Given the description of an element on the screen output the (x, y) to click on. 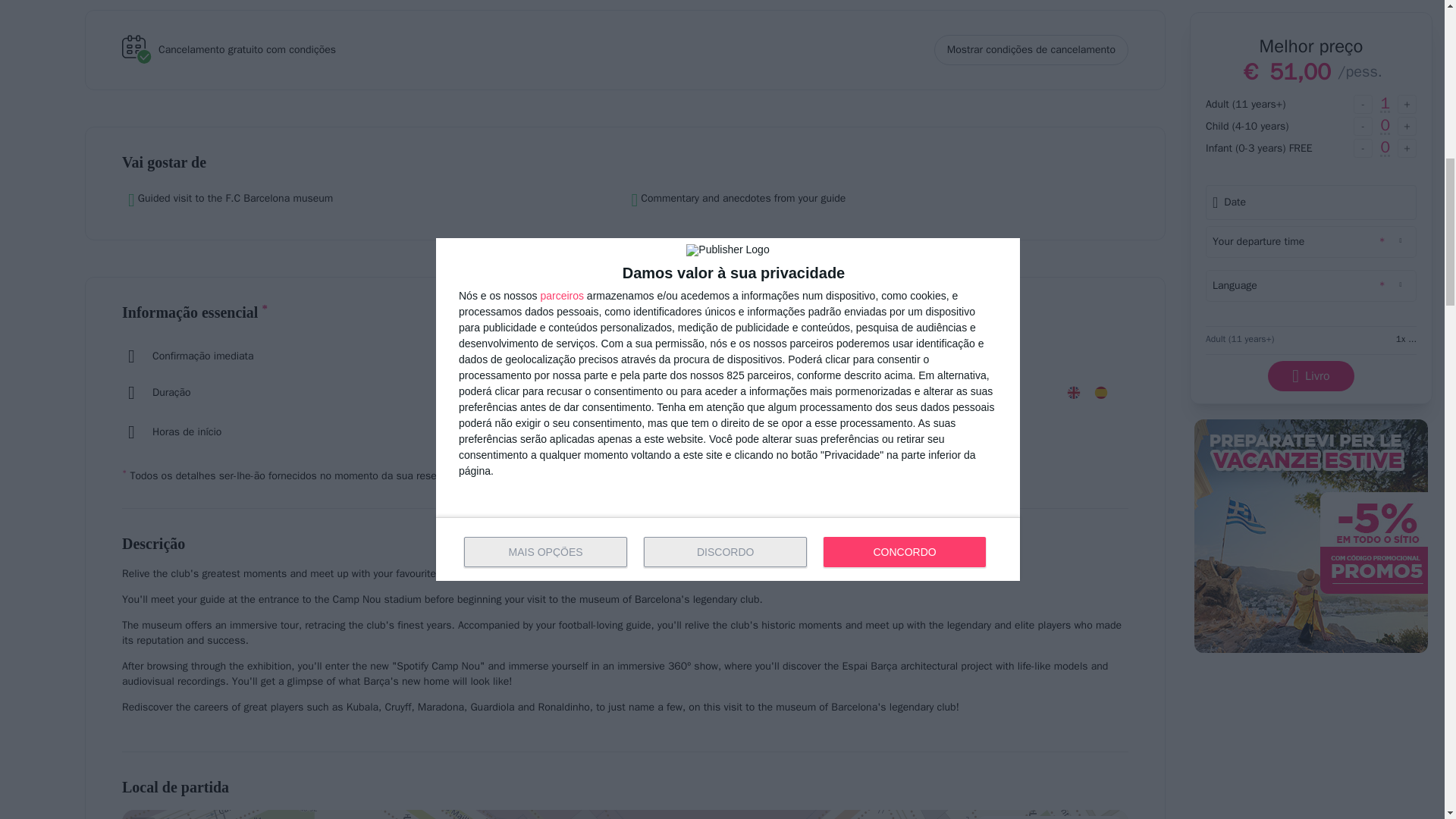
Espanhol (1100, 393)
